Given the description of an element on the screen output the (x, y) to click on. 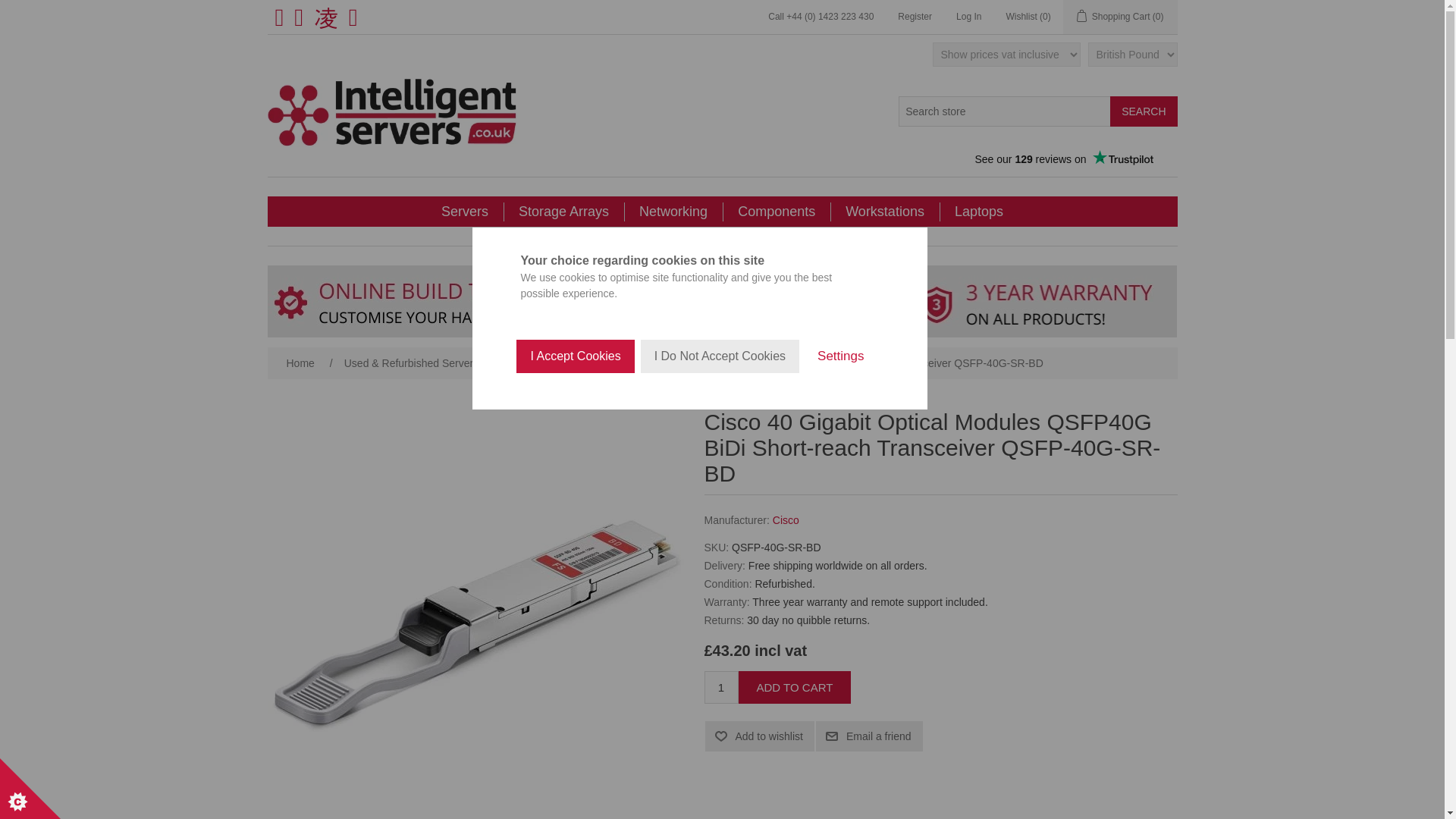
SEARCH (1142, 110)
Servers (464, 211)
Customer reviews powered by Trustpilot (1062, 158)
Register (914, 17)
I Accept Cookies (574, 580)
Settings (840, 530)
1 (720, 686)
I Do Not Accept Cookies (719, 569)
